Given the description of an element on the screen output the (x, y) to click on. 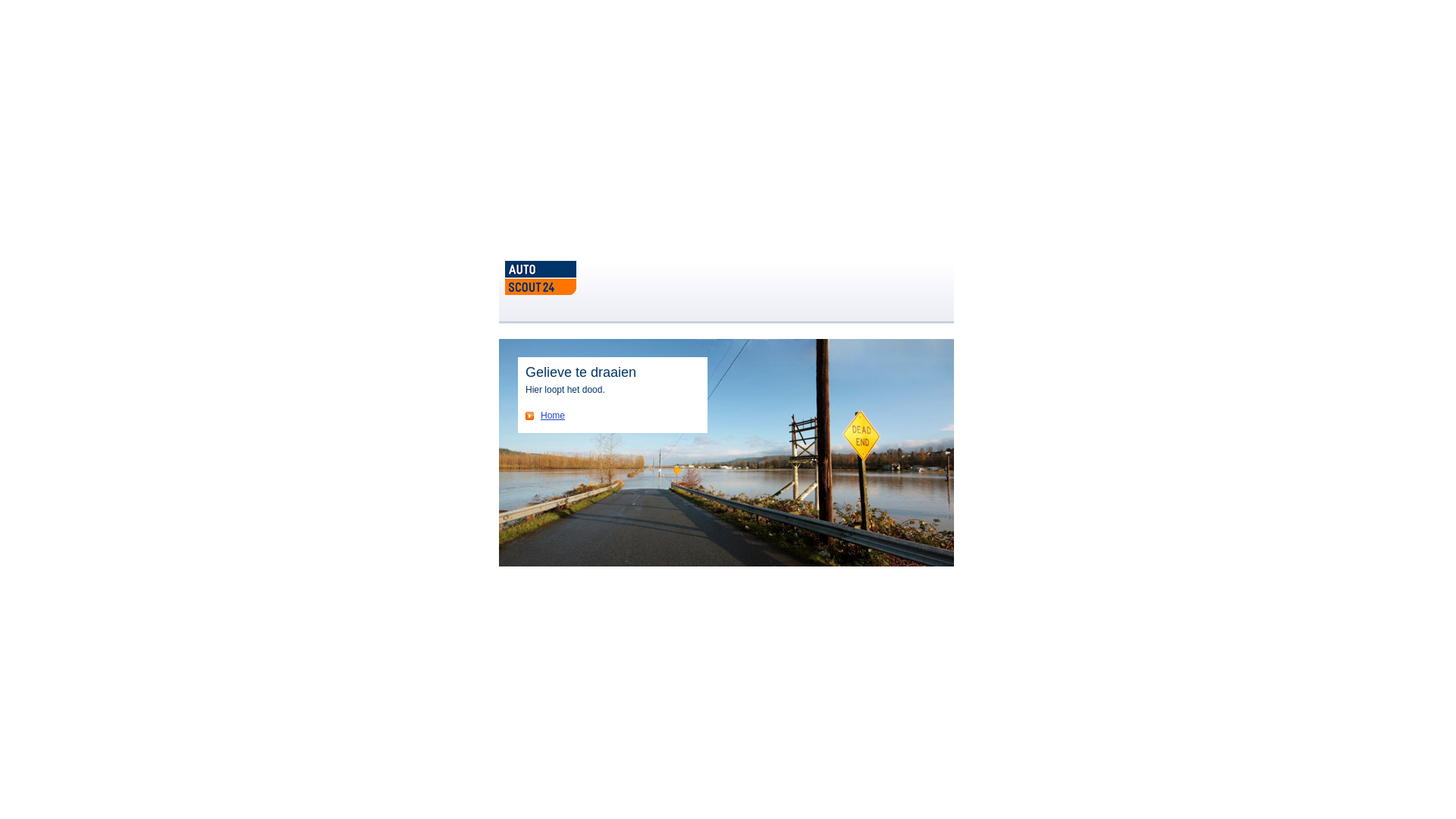
Home Element type: text (544, 415)
